Given the description of an element on the screen output the (x, y) to click on. 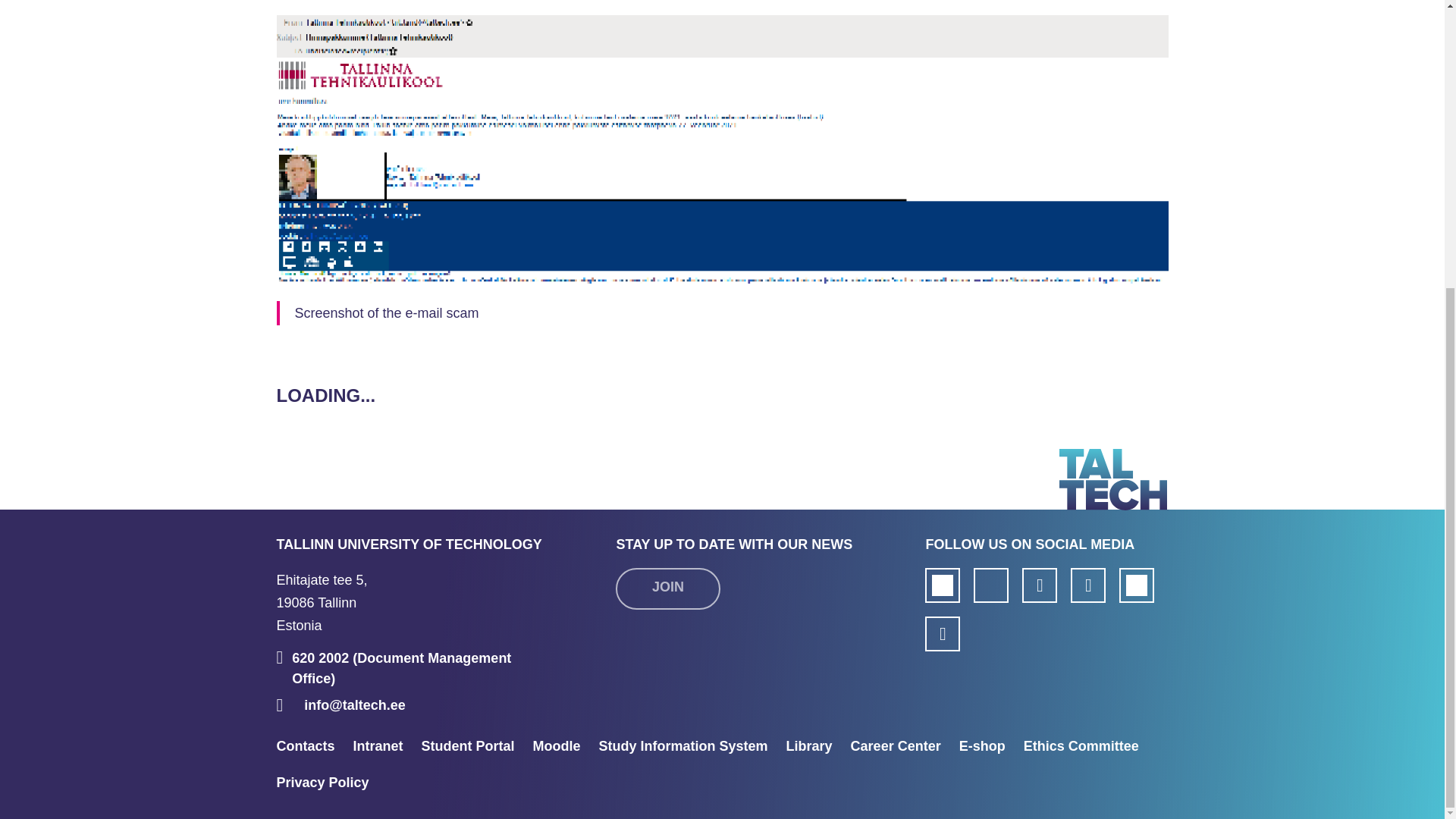
instagram (991, 585)
JOIN (667, 588)
facebook (321, 602)
linkedin (1039, 585)
